Given the description of an element on the screen output the (x, y) to click on. 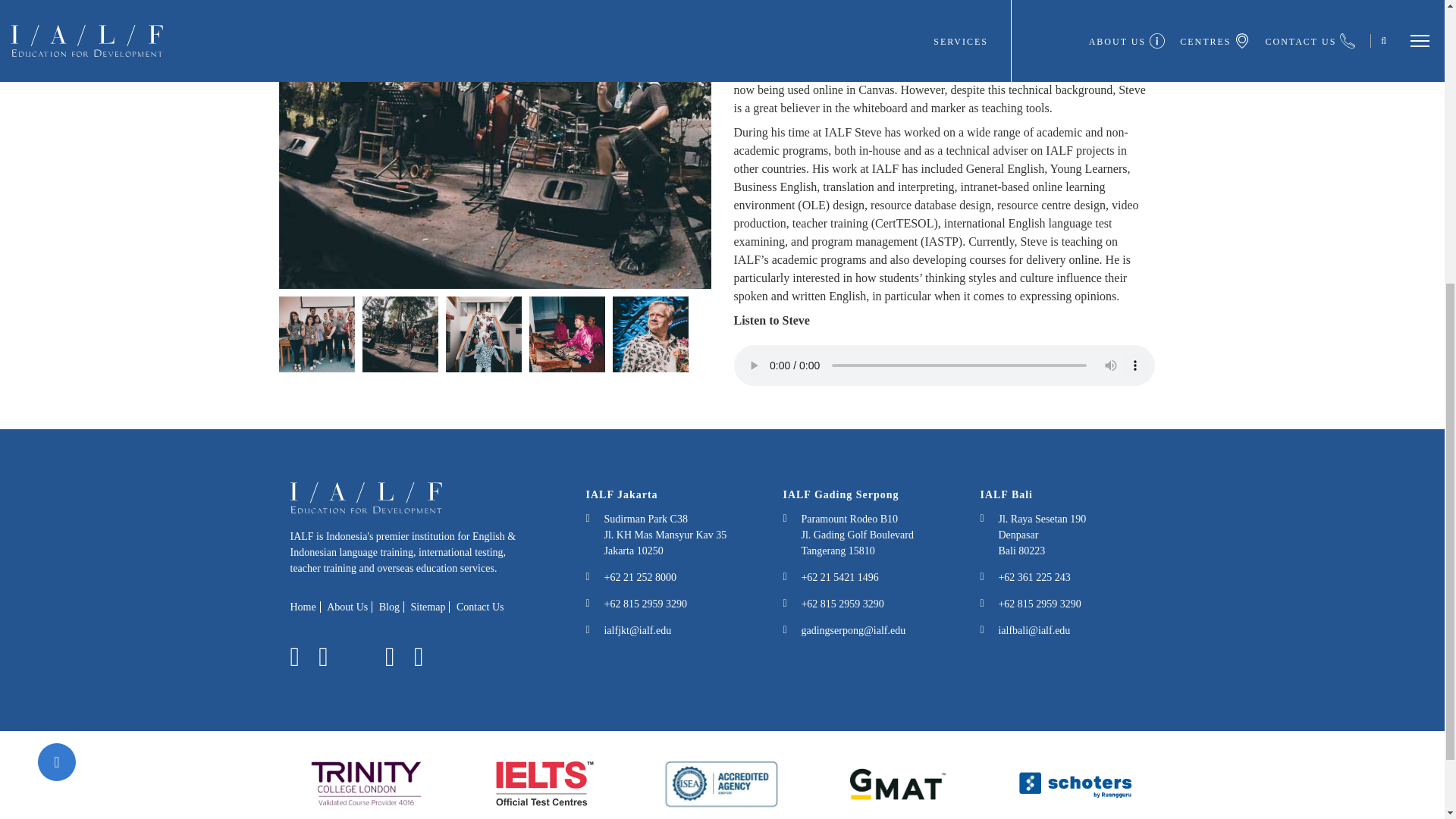
IALF (365, 504)
